Given the description of an element on the screen output the (x, y) to click on. 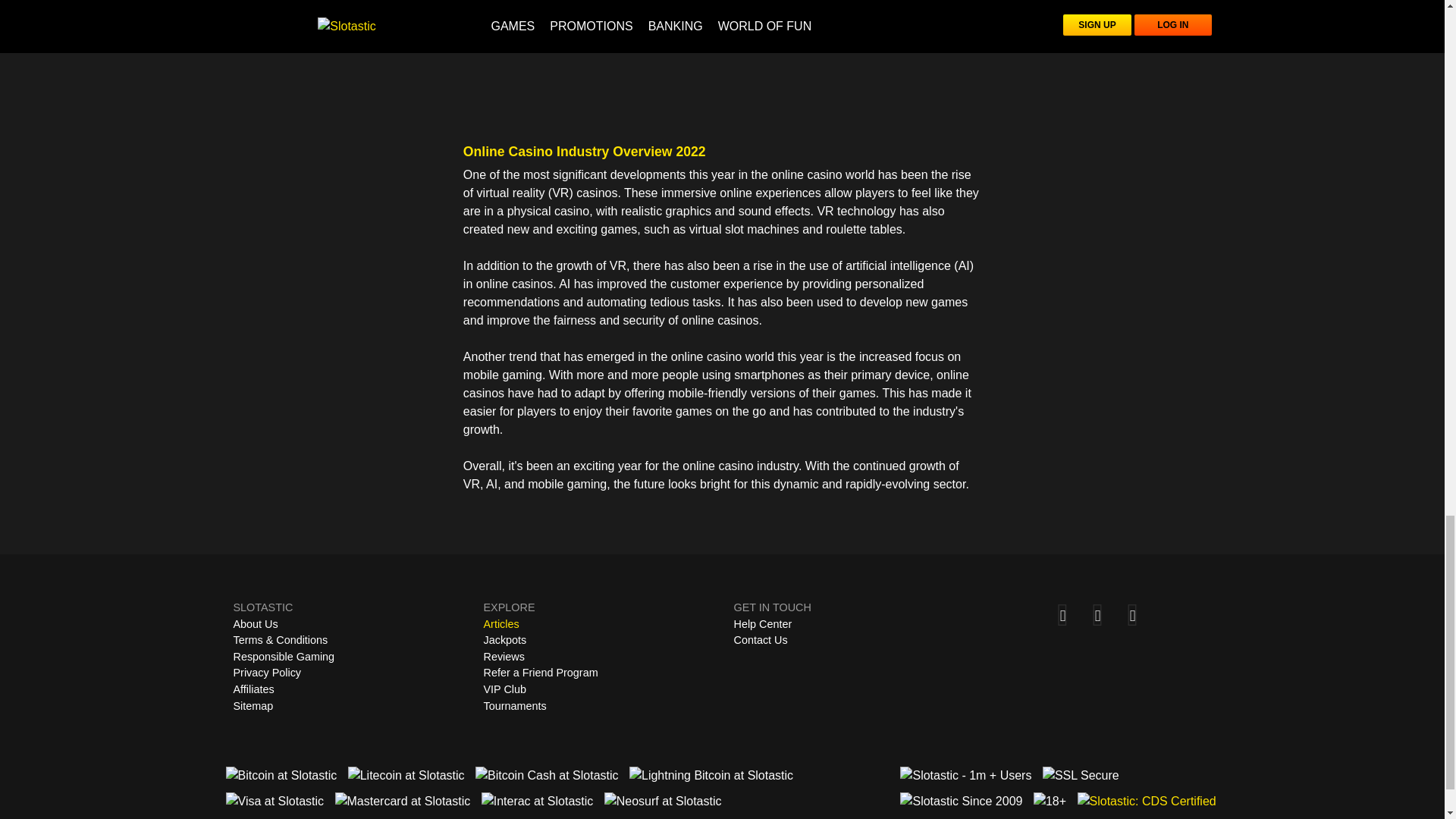
Tournaments (515, 705)
VIP Club (505, 689)
Litecoin at Slotastic (405, 775)
Bitcoin Cash at Slotastic (547, 775)
Visa at Slotastic (274, 801)
2022 Review at Slotastic (722, 65)
Articles (501, 623)
Sitemap (252, 706)
About Us (255, 623)
Lightning Bitcoin at Slotastic (710, 775)
